Given the description of an element on the screen output the (x, y) to click on. 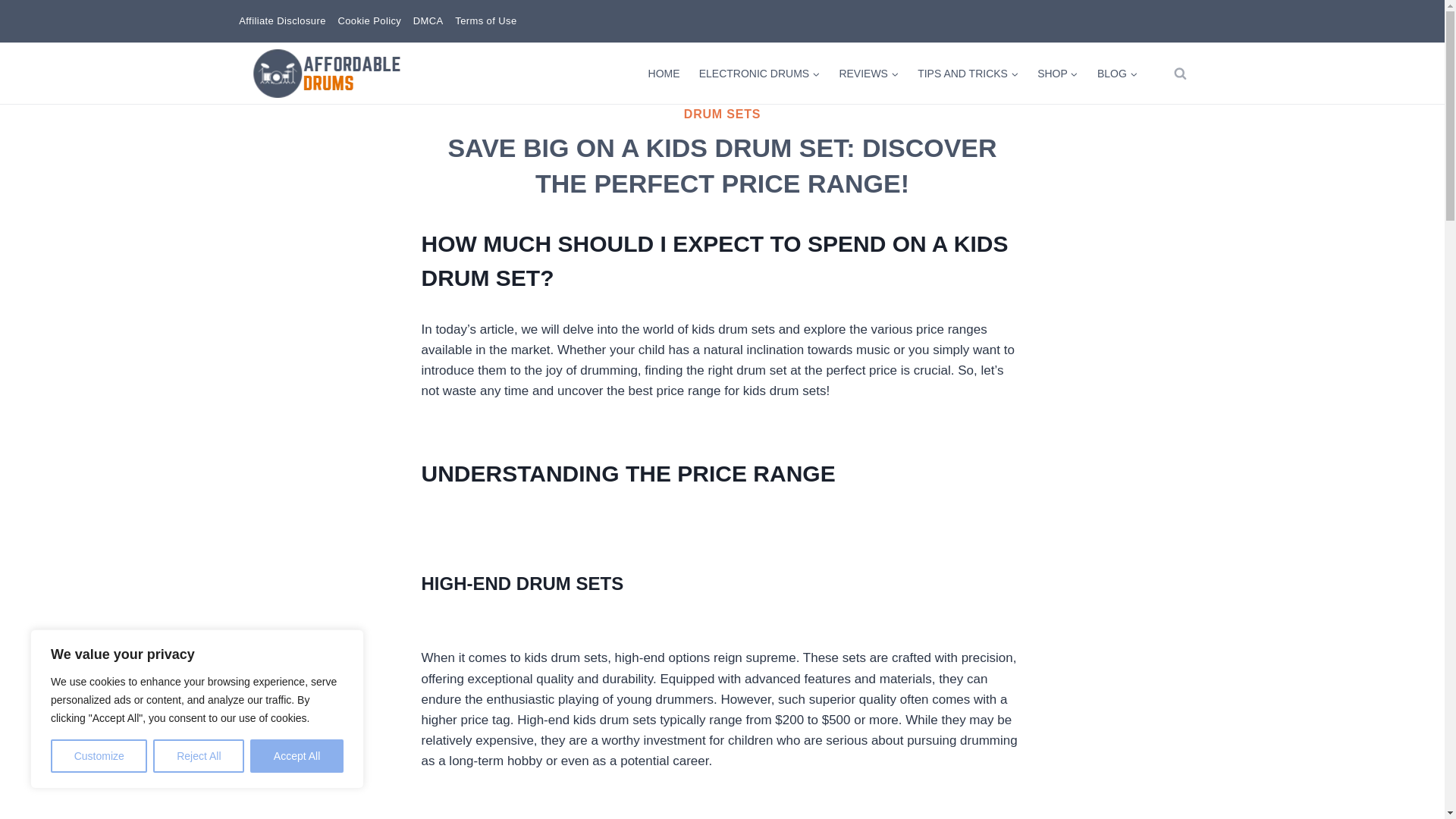
TIPS AND TRICKS (967, 73)
Cookie Policy (369, 21)
REVIEWS (868, 73)
Customize (98, 756)
Accept All (296, 756)
Terms of Use (485, 21)
HOME (663, 73)
ELECTRONIC DRUMS (758, 73)
DMCA (427, 21)
Reject All (198, 756)
